Given the description of an element on the screen output the (x, y) to click on. 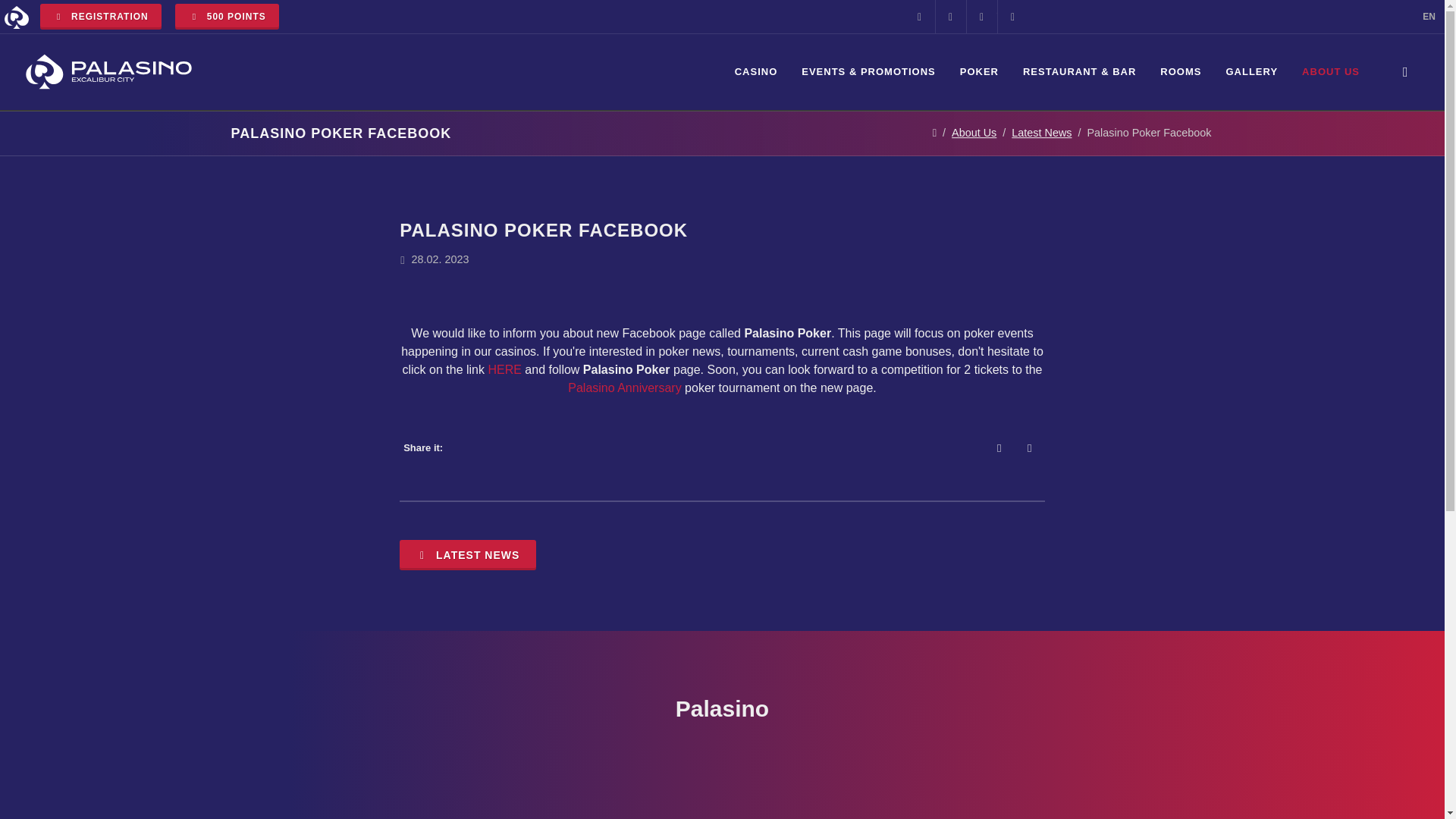
Latest News (1041, 132)
GALLERY (1251, 71)
REGISTRATION (100, 16)
About Us (973, 132)
Palasino Anniversary (624, 387)
ABOUT US (1330, 71)
500 POINTS (226, 16)
HERE (504, 369)
